Given the description of an element on the screen output the (x, y) to click on. 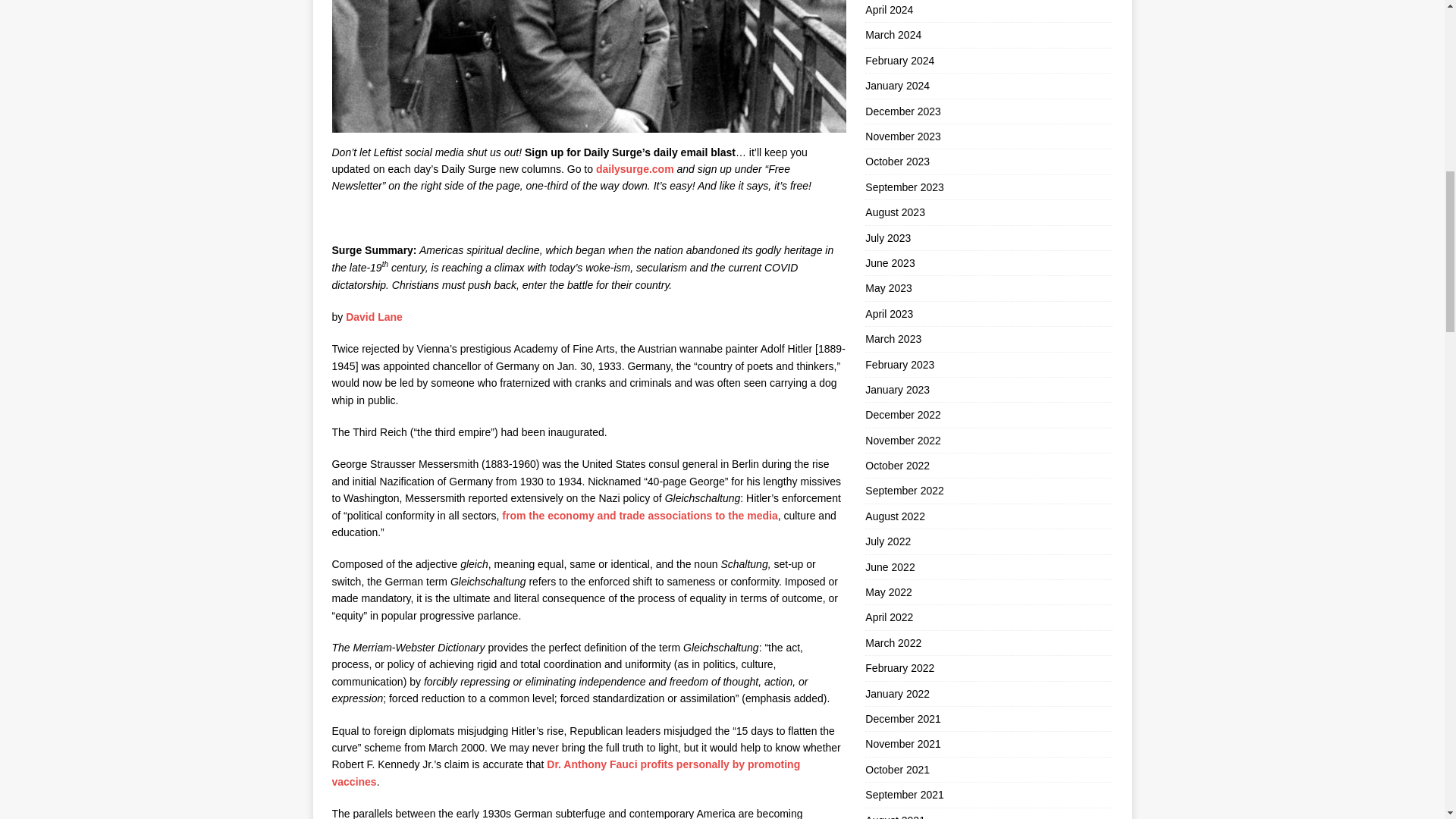
David Lane (374, 316)
from the economy and trade associations to the media (639, 515)
dailysurge.com (634, 168)
Dr. Anthony Fauci profits personally by promoting vaccines (565, 772)
